Given the description of an element on the screen output the (x, y) to click on. 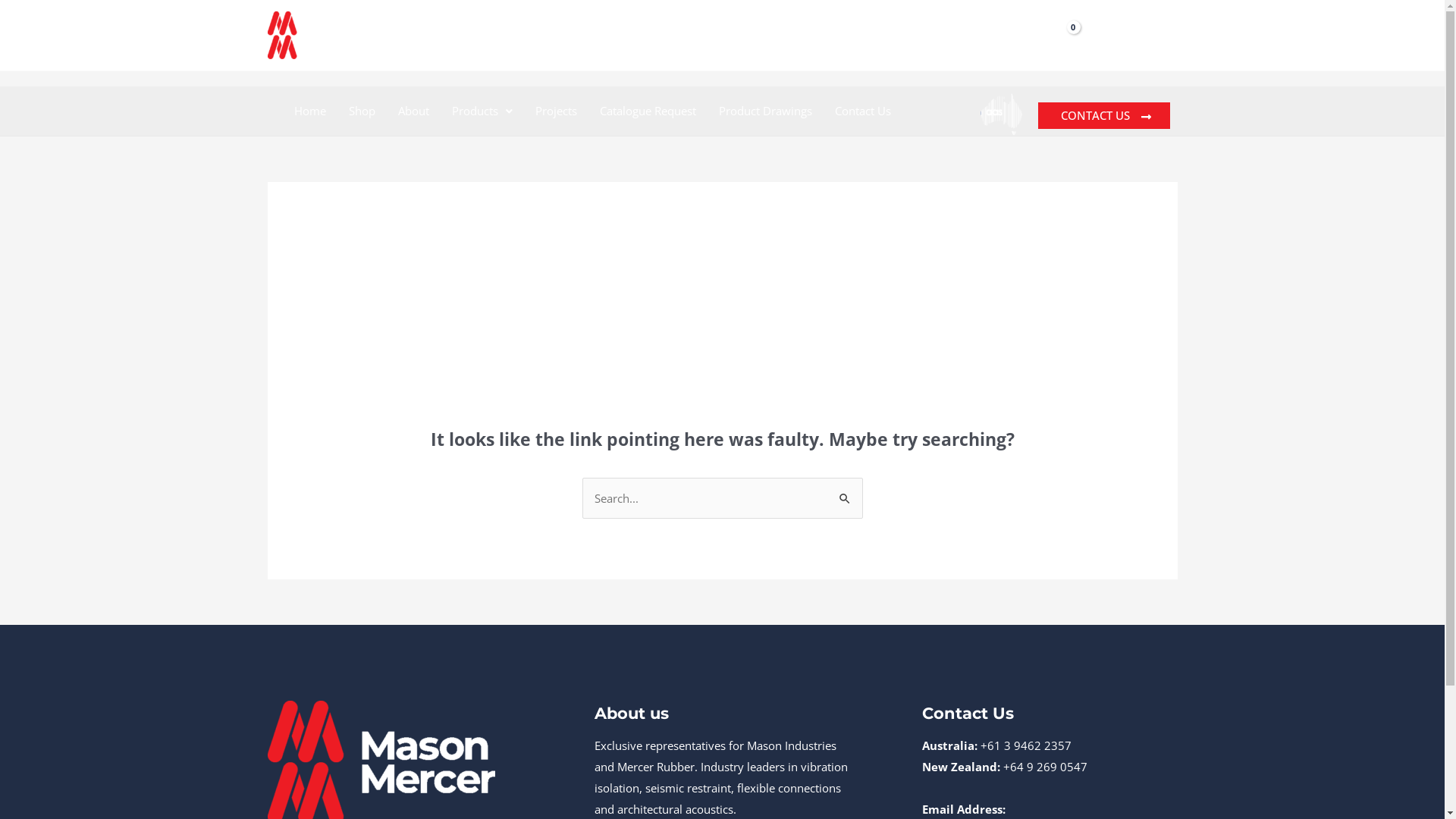
Products Element type: text (481, 111)
Product Drawings Element type: text (764, 111)
Home Element type: text (309, 111)
Search Element type: text (845, 492)
+64 9 269 0547 Element type: text (1043, 766)
Shop Element type: text (360, 111)
CONTACT US Element type: text (1103, 115)
Catalogue Request Element type: text (647, 111)
Contact Us Element type: text (862, 111)
Projects Element type: text (555, 111)
+61 3 9462 2357 Element type: text (1025, 745)
About Element type: text (413, 111)
